Given the description of an element on the screen output the (x, y) to click on. 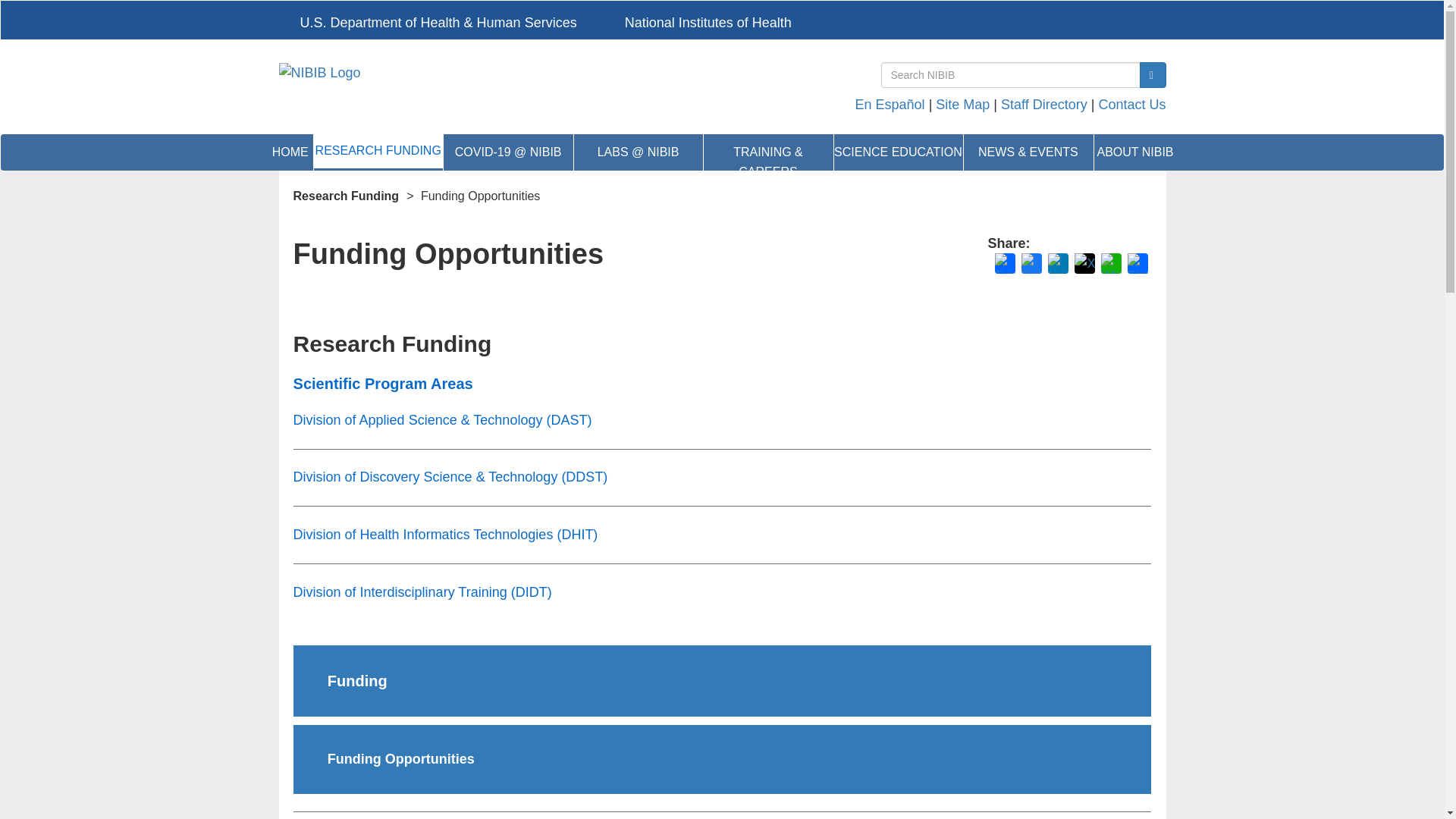
Contact Us (1131, 104)
NIBIB Logo (544, 72)
RESEARCH FUNDING (377, 150)
National Institutes of Health (698, 21)
HOME (290, 152)
Site Map (963, 104)
Staff Directory (1044, 104)
